Given the description of an element on the screen output the (x, y) to click on. 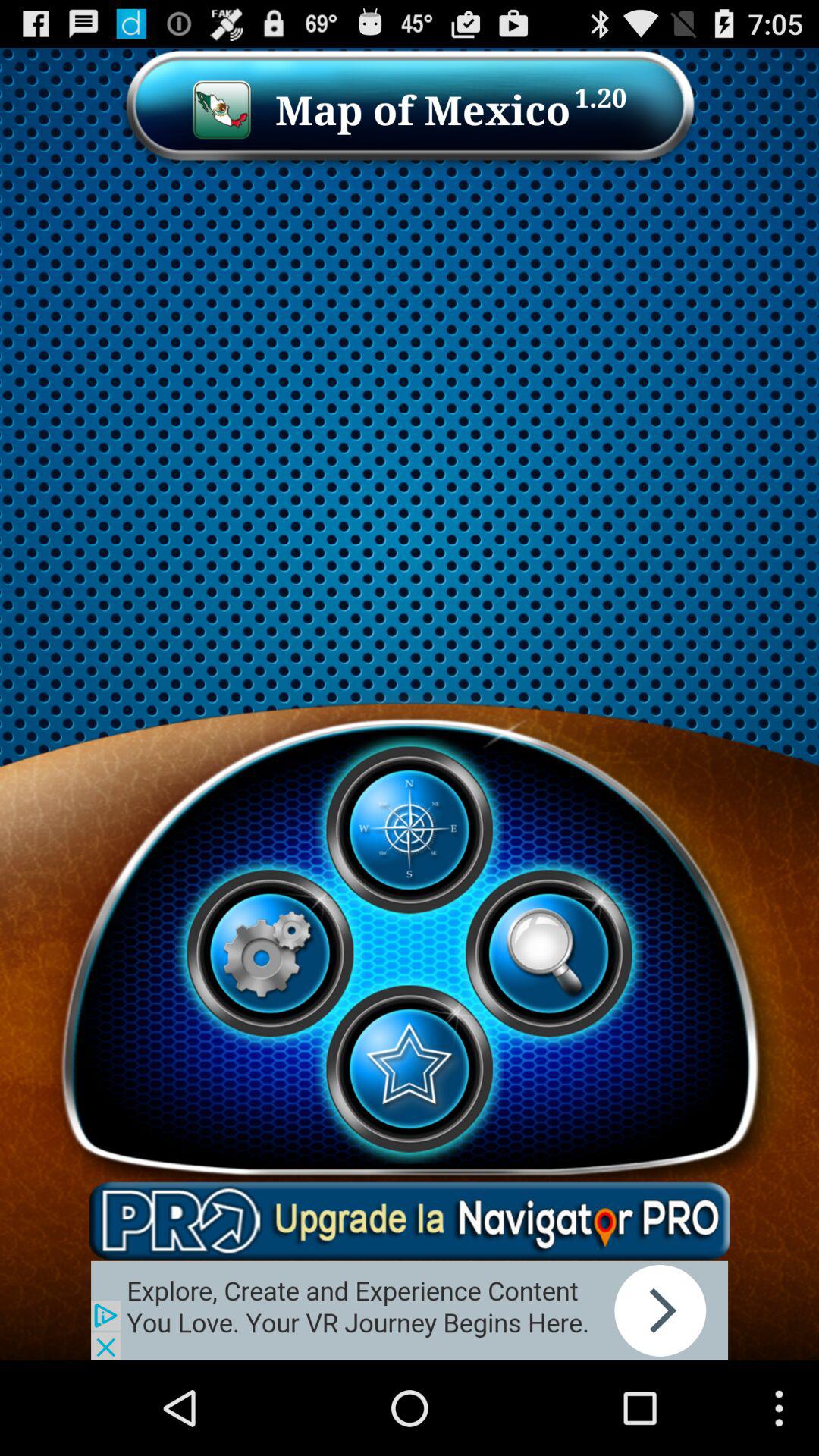
auto coloring (409, 1220)
